Given the description of an element on the screen output the (x, y) to click on. 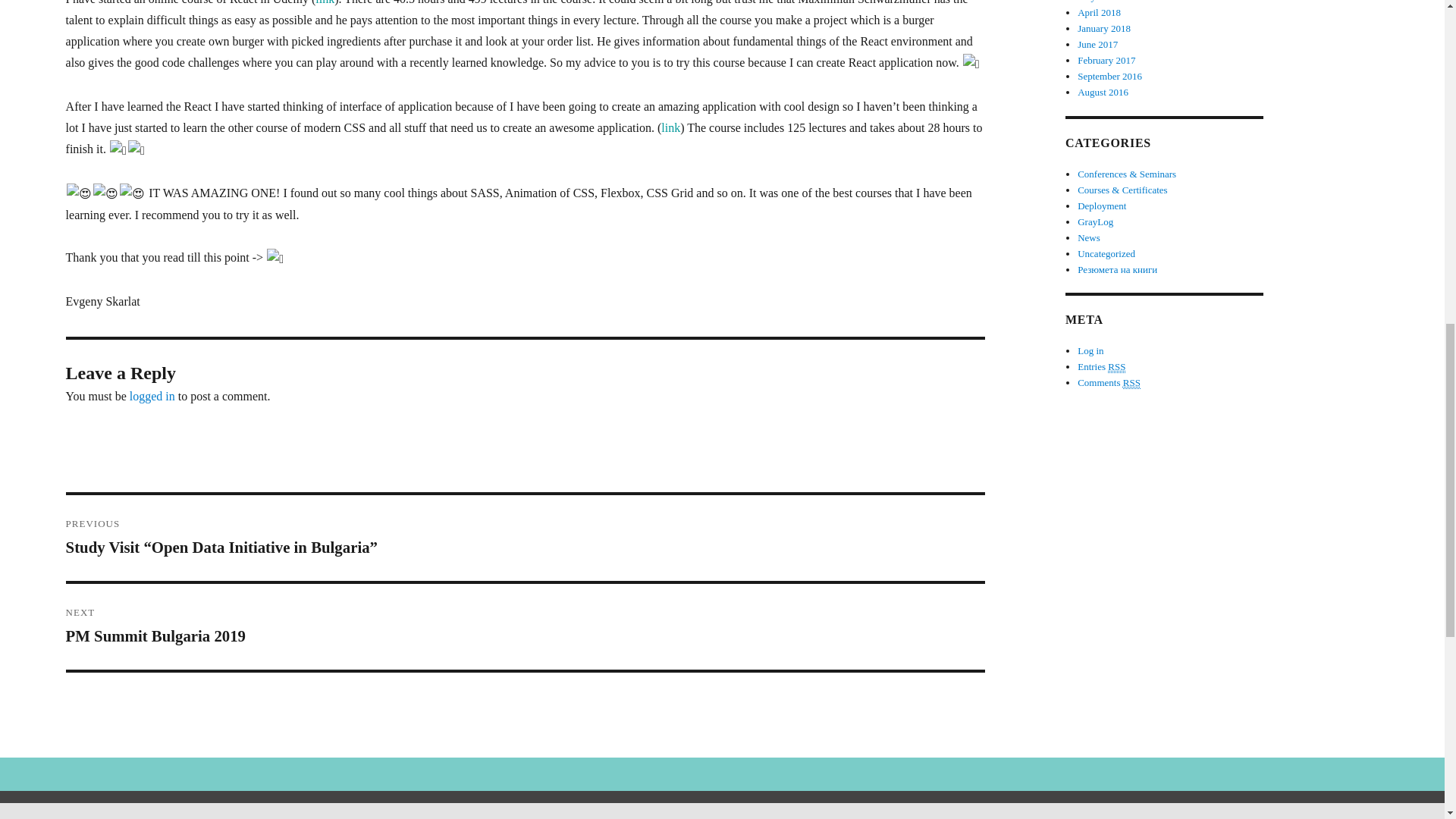
February 2017 (1106, 60)
Really Simple Syndication (1116, 367)
August 2016 (525, 626)
January 2018 (1102, 91)
September 2016 (1104, 28)
June 2017 (1109, 75)
Really Simple Syndication (1097, 43)
logged in (1131, 382)
Conferences, Seminars, Summits, Meetings (151, 395)
April 2018 (1126, 173)
May 2018 (1099, 12)
link (1097, 1)
link (324, 2)
